Given the description of an element on the screen output the (x, y) to click on. 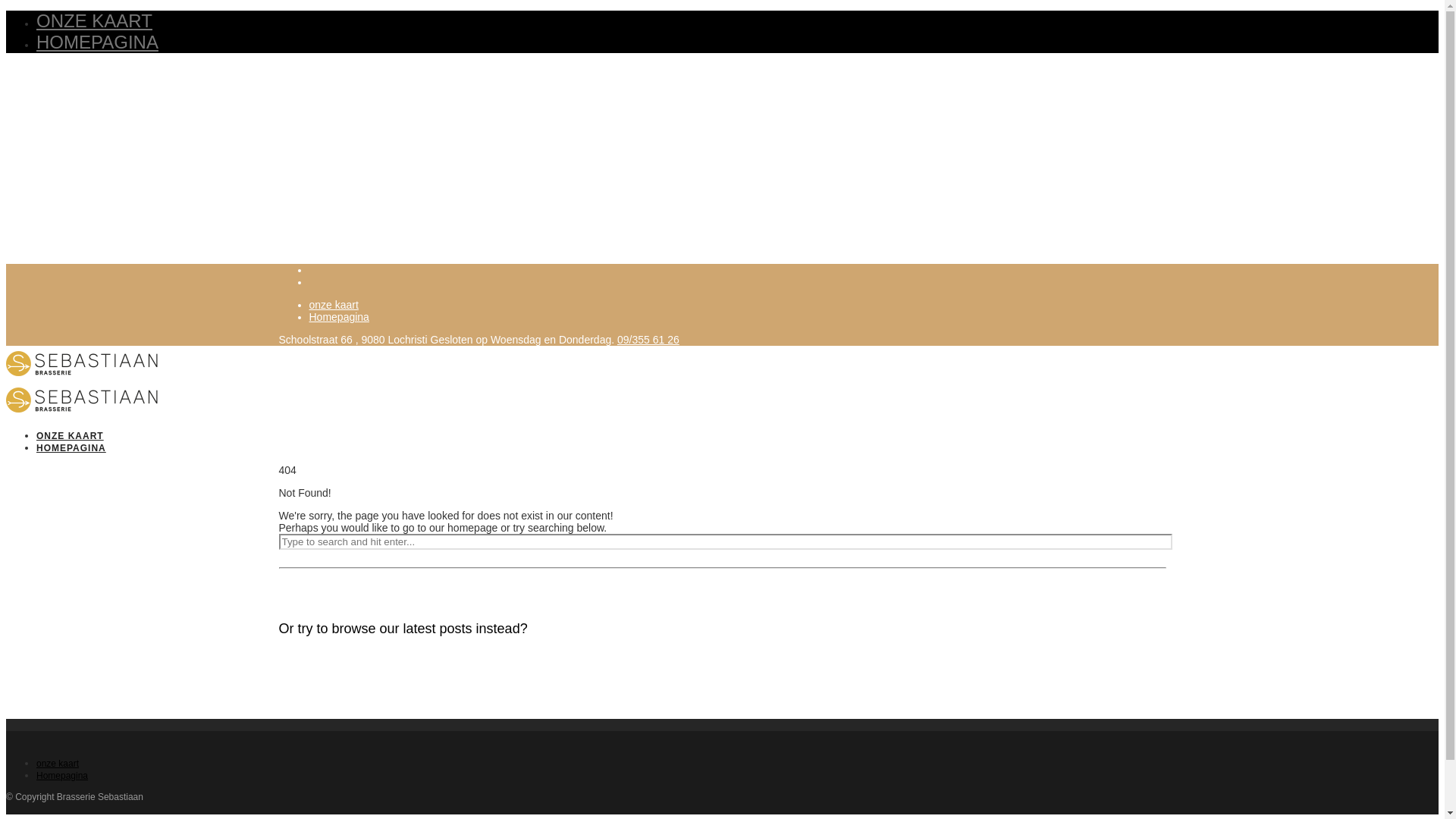
ONZE KAART Element type: text (94, 20)
ONZE KAART Element type: text (69, 435)
onze kaart Element type: text (57, 763)
HOMEPAGINA Element type: text (71, 447)
09/355 61 26 Element type: text (648, 339)
Homepagina Element type: text (61, 775)
HOMEPAGINA Element type: text (97, 41)
Homepagina Element type: text (339, 316)
onze kaart Element type: text (333, 304)
